Given the description of an element on the screen output the (x, y) to click on. 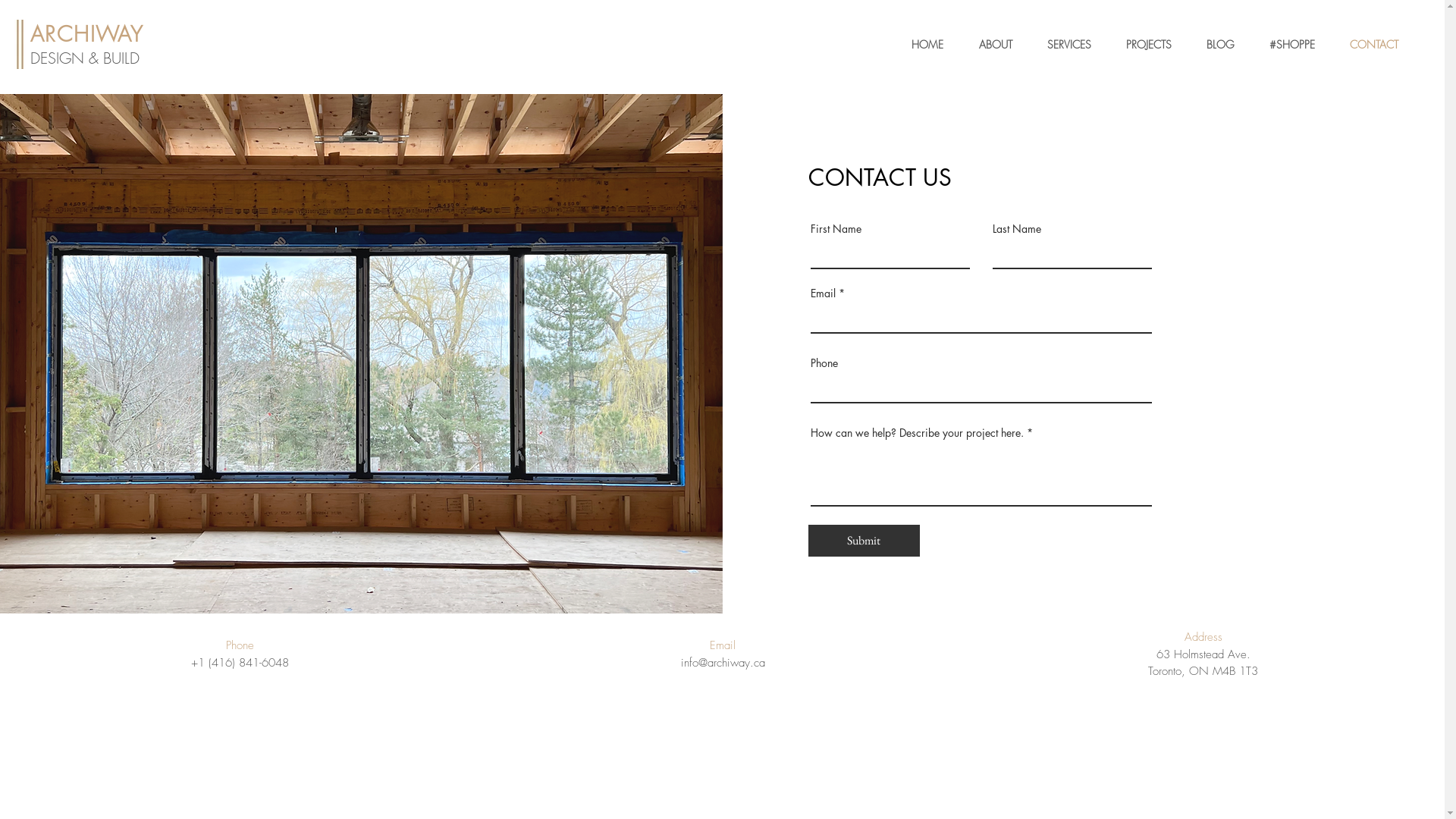
CONTACT Element type: text (1367, 44)
DESIGN & BUILD Element type: text (84, 57)
PROJECTS Element type: text (1142, 44)
info@archiway.ca Element type: text (722, 662)
#SHOPPE Element type: text (1285, 44)
ARCHIWAY Element type: text (86, 33)
SERVICES Element type: text (1062, 44)
Submit Element type: text (863, 540)
ABOUT Element type: text (988, 44)
HOME Element type: text (920, 44)
BLOG Element type: text (1214, 44)
